Given the description of an element on the screen output the (x, y) to click on. 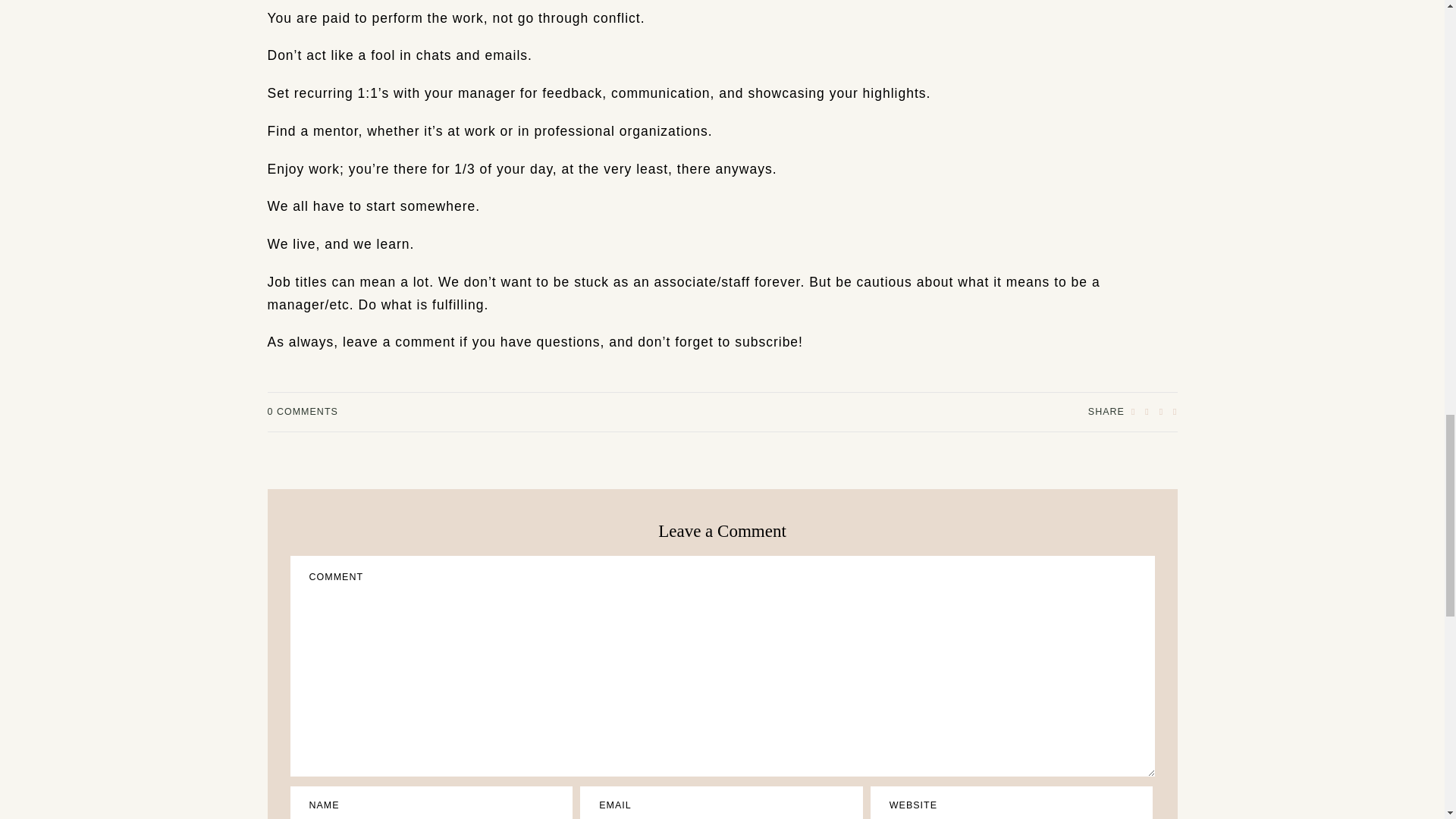
0 COMMENTS (301, 411)
